Given the description of an element on the screen output the (x, y) to click on. 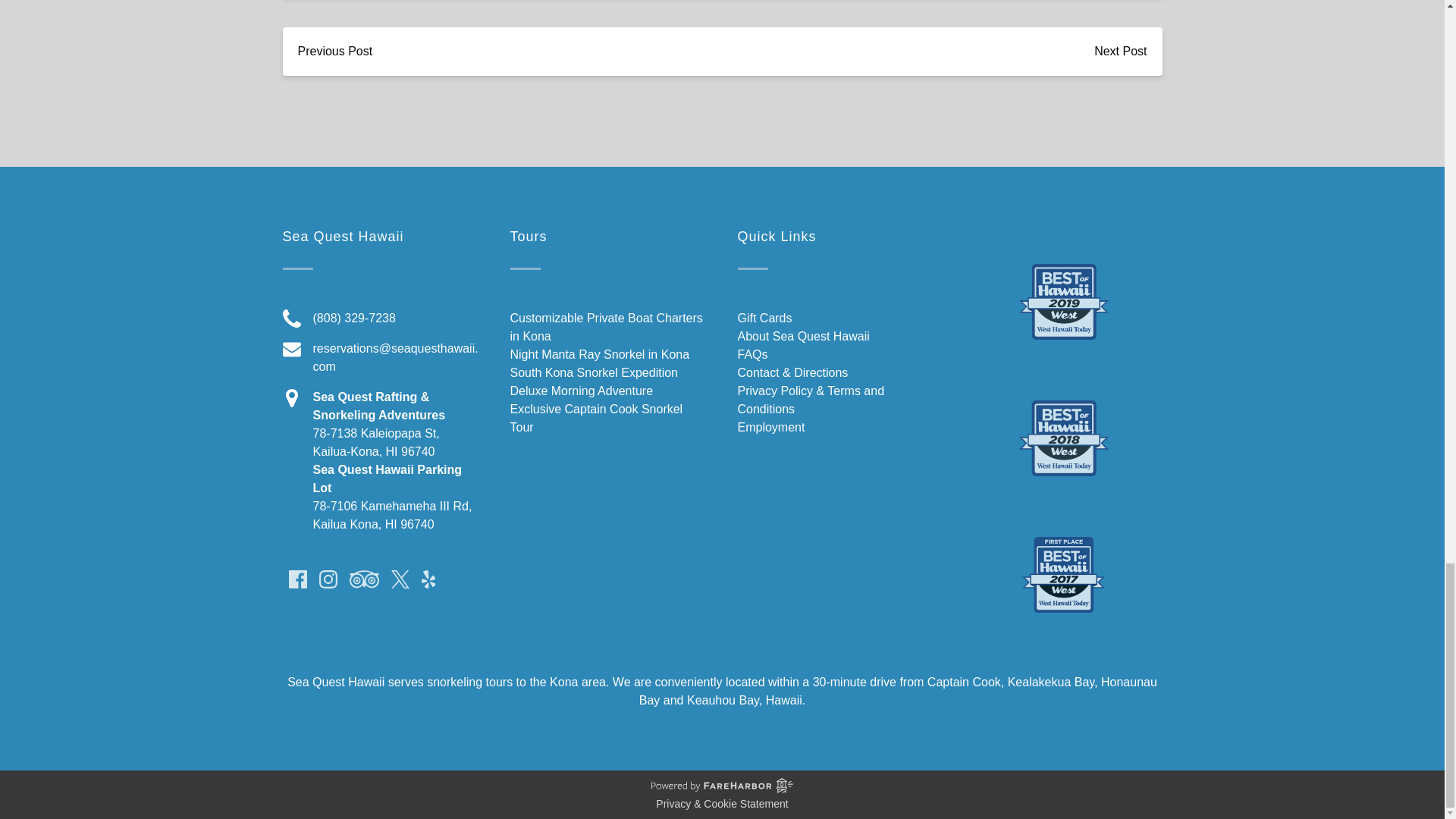
Next Post (1119, 51)
Previous Post (334, 51)
Phone (290, 318)
Envelope (290, 349)
Map Marker (290, 398)
